Given the description of an element on the screen output the (x, y) to click on. 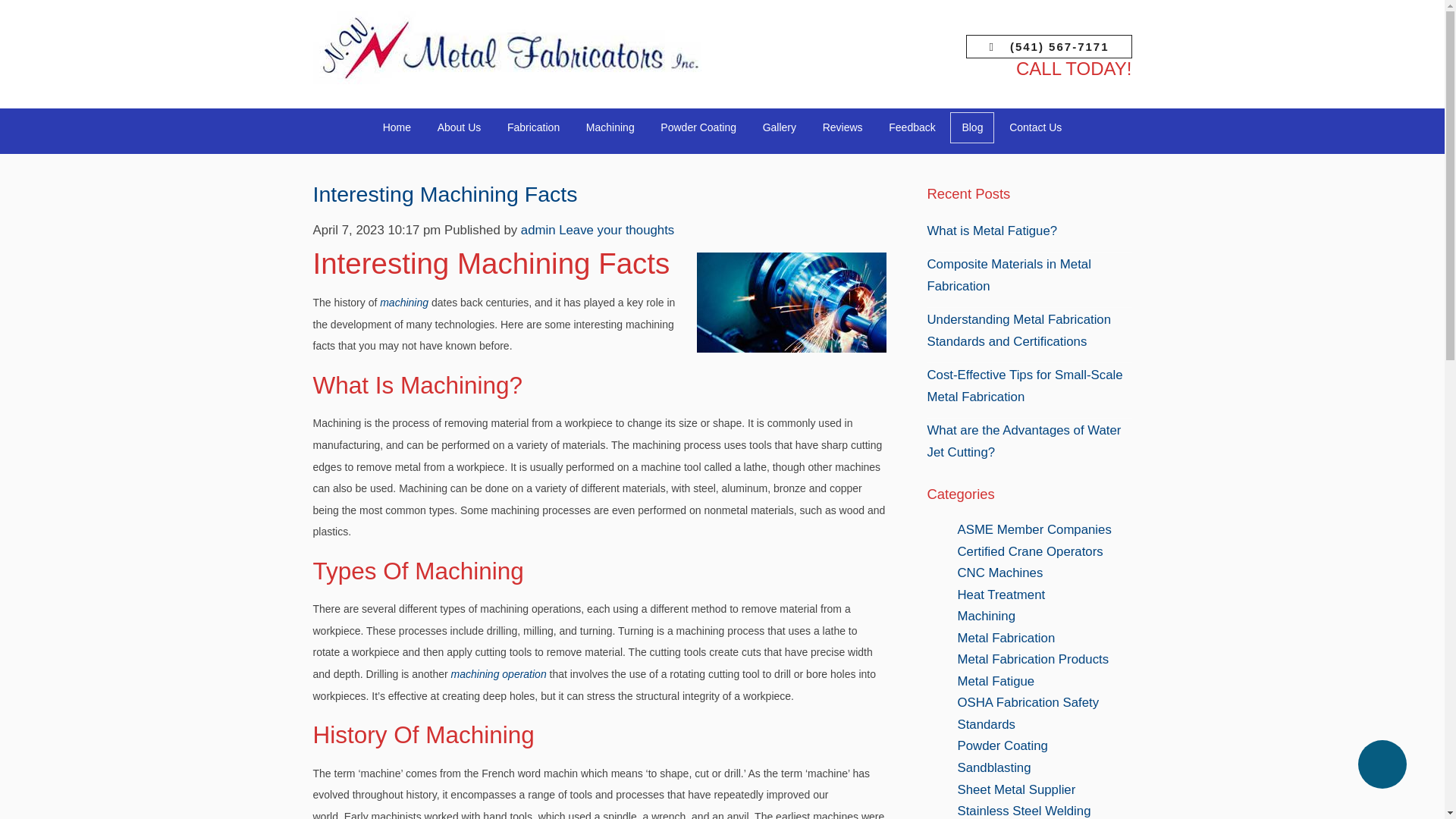
Feedback (911, 127)
What are the Advantages of Water Jet Cutting? (1023, 441)
Powder Coating (1001, 745)
Interesting Machining Facts (444, 193)
Sheet Metal Supplier (1015, 789)
What is Metal Fatigue? (991, 230)
machining (404, 302)
Posts by admin (538, 229)
machining operation (499, 674)
Powder Coating (698, 127)
About Us (459, 127)
Sandblasting (993, 767)
OSHA Fabrication Safety Standards (1027, 713)
ASME Member Companies (1033, 529)
Interesting Machining Facts (444, 193)
